Given the description of an element on the screen output the (x, y) to click on. 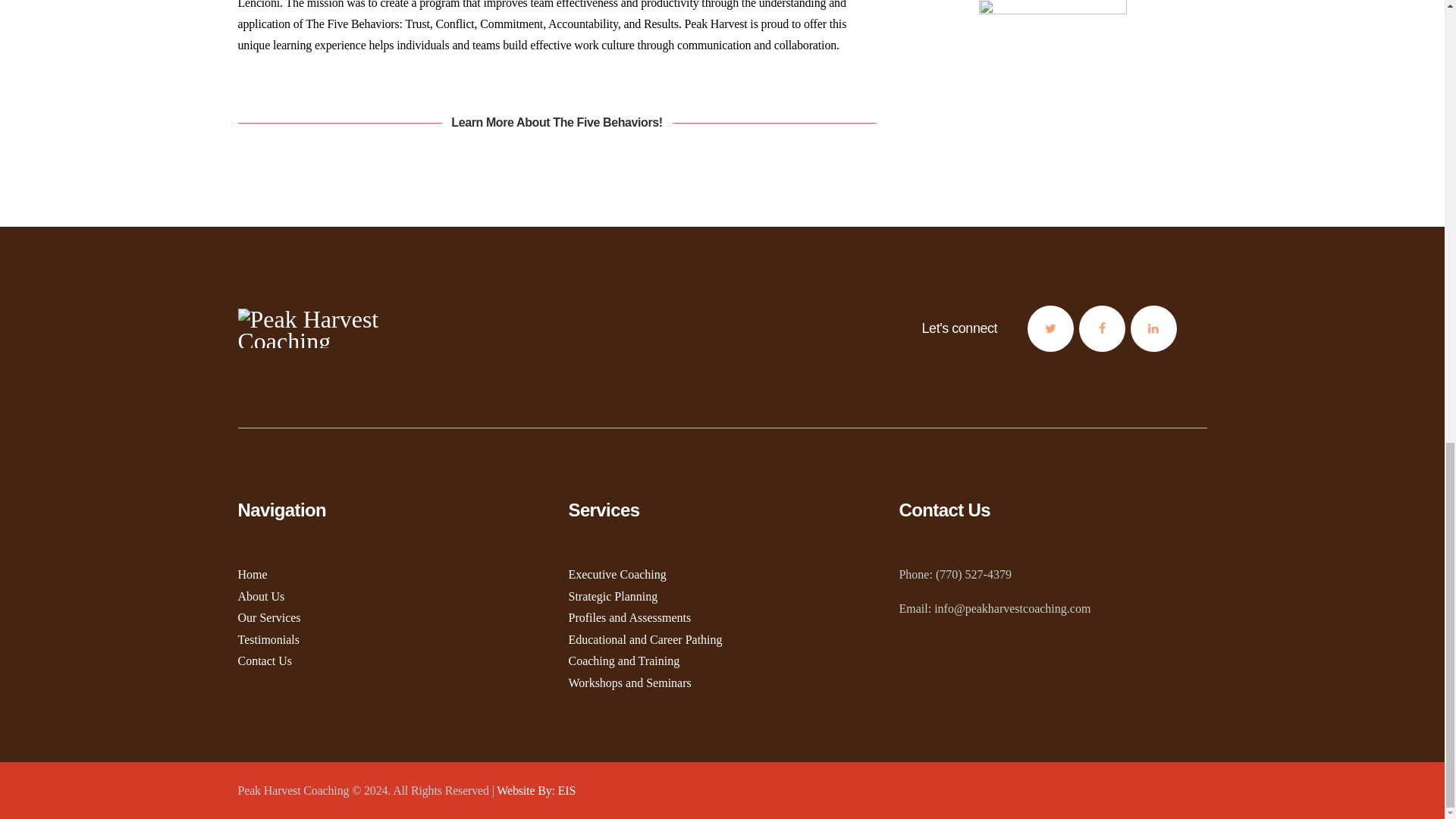
Home (252, 574)
Our Services (269, 617)
Testimonials (268, 639)
About Us (261, 595)
